Given the description of an element on the screen output the (x, y) to click on. 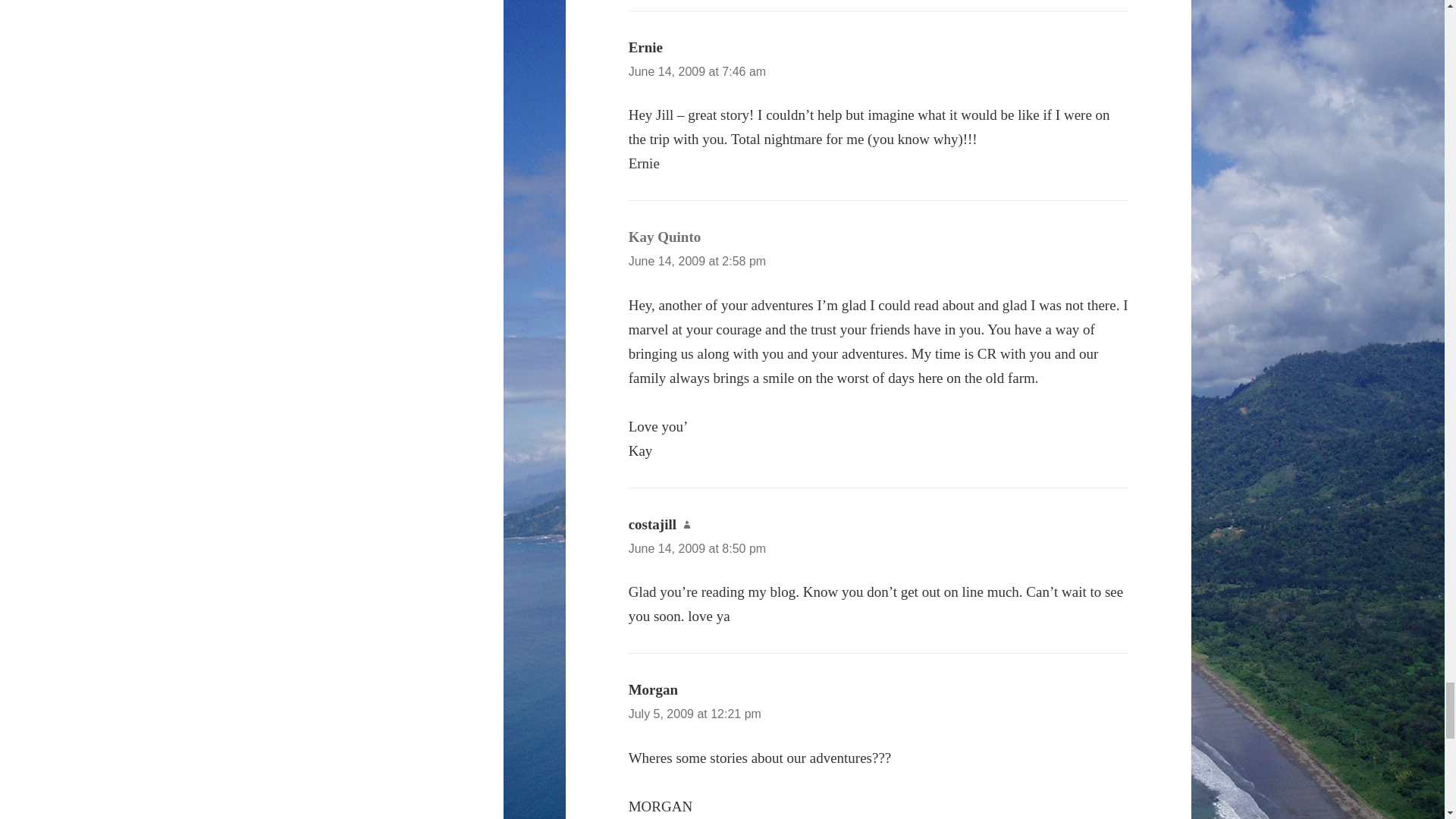
June 14, 2009 at 2:58 pm (696, 260)
June 14, 2009 at 7:46 am (696, 71)
costajill (652, 524)
Ernie (645, 47)
